Given the description of an element on the screen output the (x, y) to click on. 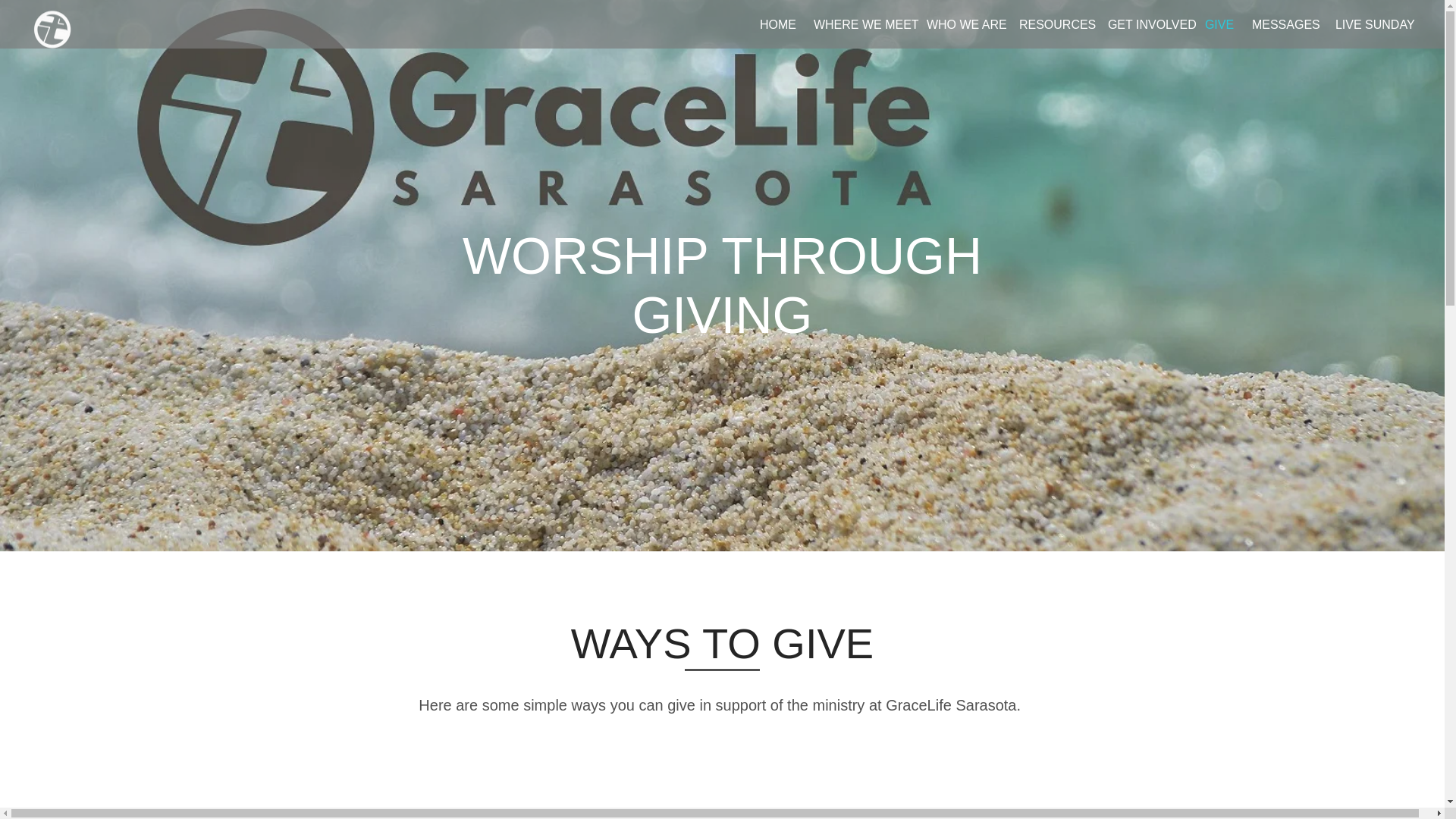
GIVE (1216, 24)
WHERE WE MEET (858, 24)
MESSAGES (1281, 24)
GET INVOLVED (1144, 24)
HOME (775, 24)
LIVE SUNDAY (1369, 24)
